Given the description of an element on the screen output the (x, y) to click on. 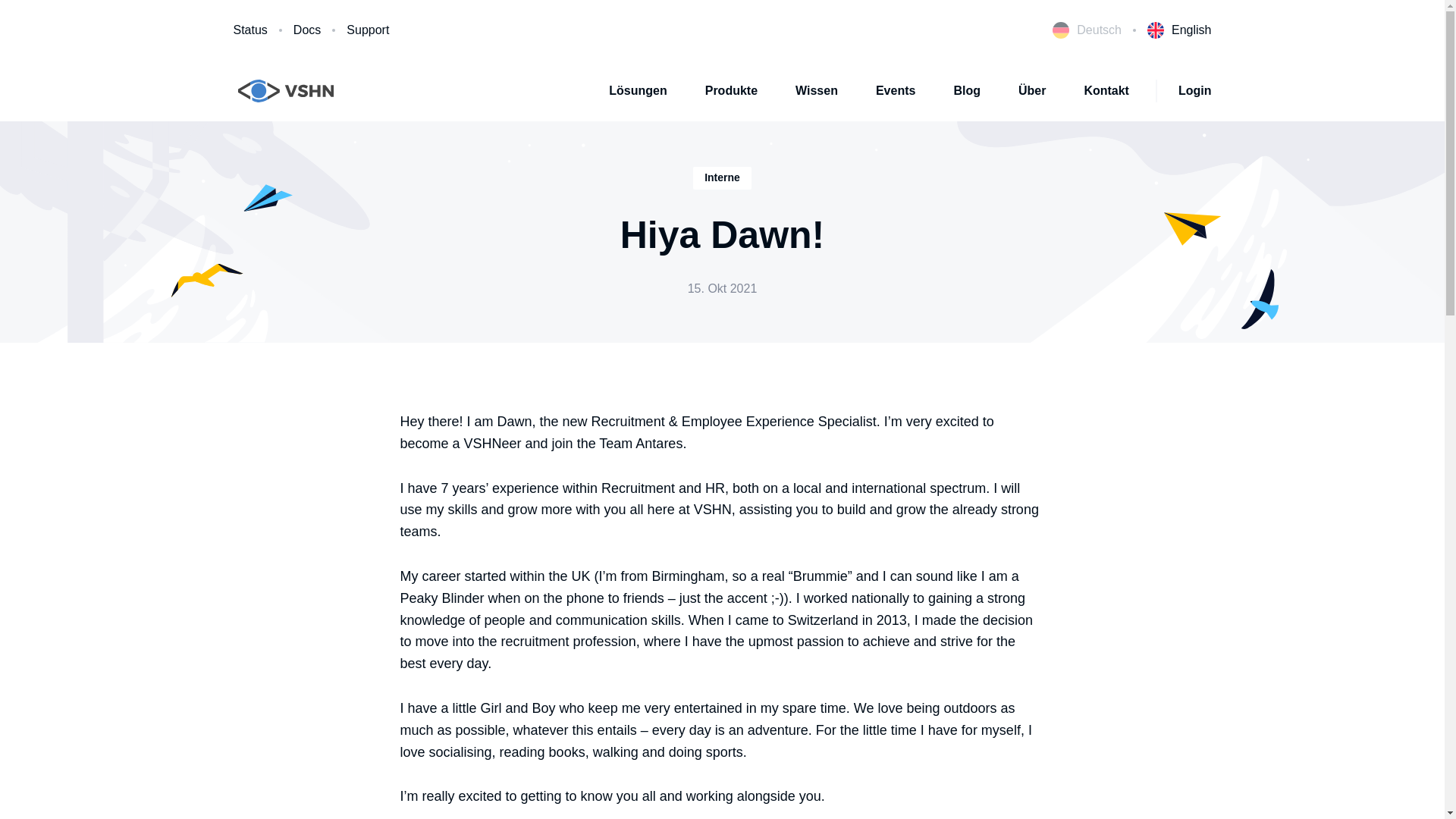
Docs (307, 30)
Support (367, 30)
Status (249, 30)
Deutsch (1086, 30)
English (1179, 30)
